Given the description of an element on the screen output the (x, y) to click on. 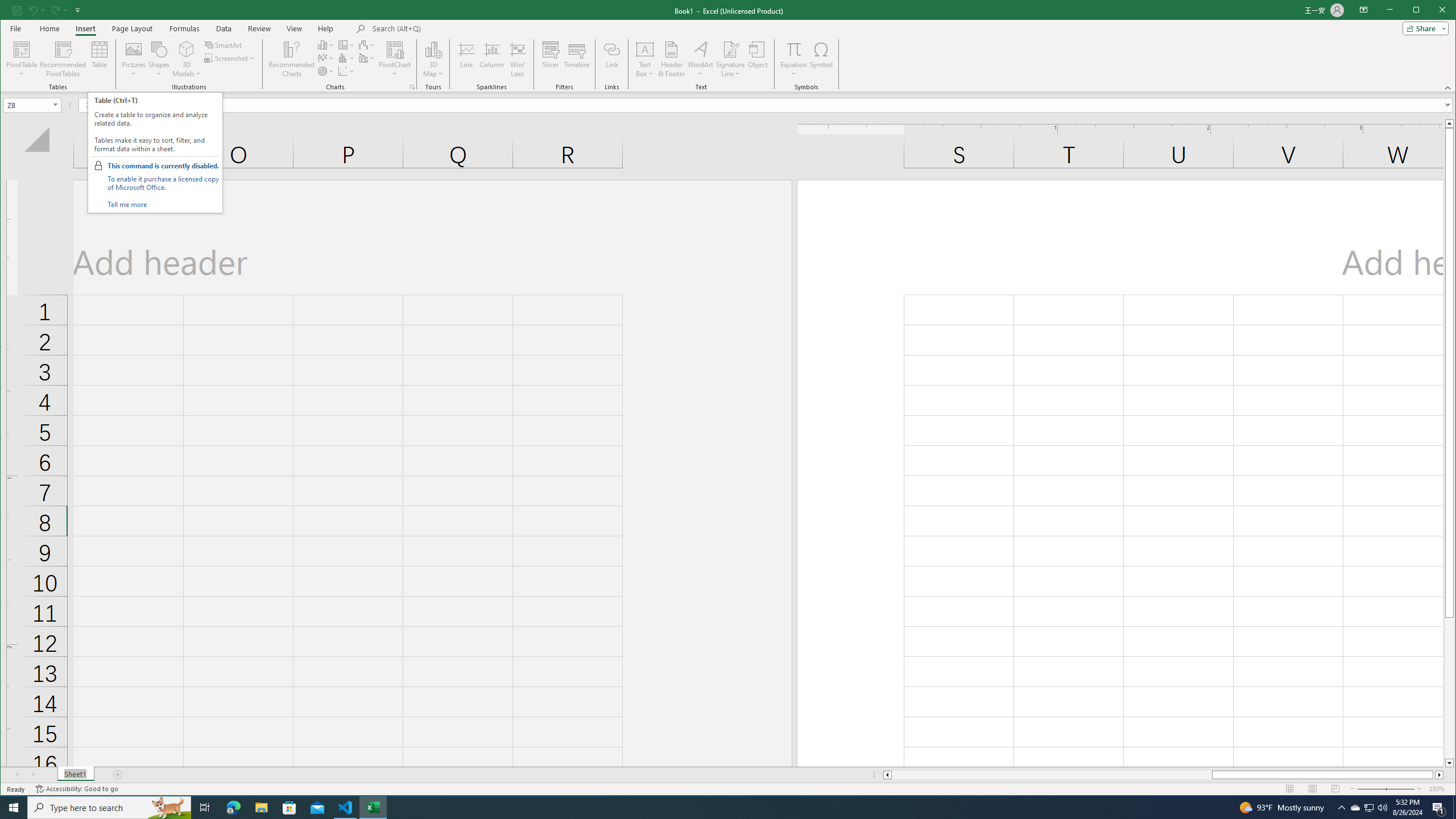
This command is currently disabled. (162, 165)
Formula Bar (1355, 807)
Running applications (799, 104)
Object... (717, 807)
PivotChart (757, 59)
Timeline (394, 59)
Visual Studio Code - 1 running window (576, 59)
Insert Statistic Chart (345, 807)
